Given the description of an element on the screen output the (x, y) to click on. 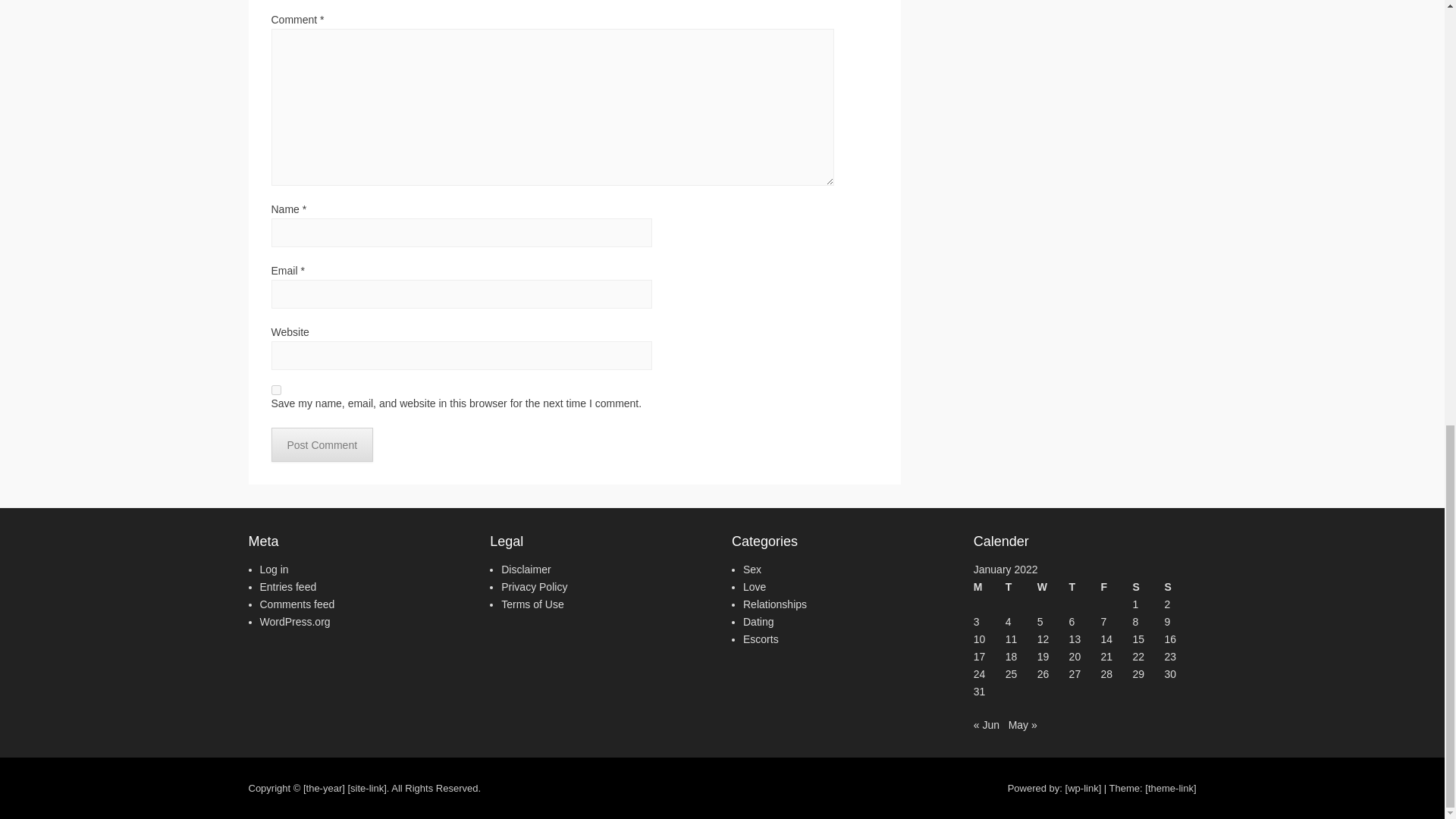
Entries feed (287, 586)
Comments feed (296, 604)
Disclaimer (525, 569)
Monday (990, 587)
Post Comment (322, 444)
Saturday (1148, 587)
Sunday (1179, 587)
Thursday (1084, 587)
Post Comment (322, 444)
Wednesday (1052, 587)
Tuesday (1021, 587)
Friday (1116, 587)
yes (275, 389)
Log in (273, 569)
WordPress.org (294, 621)
